Given the description of an element on the screen output the (x, y) to click on. 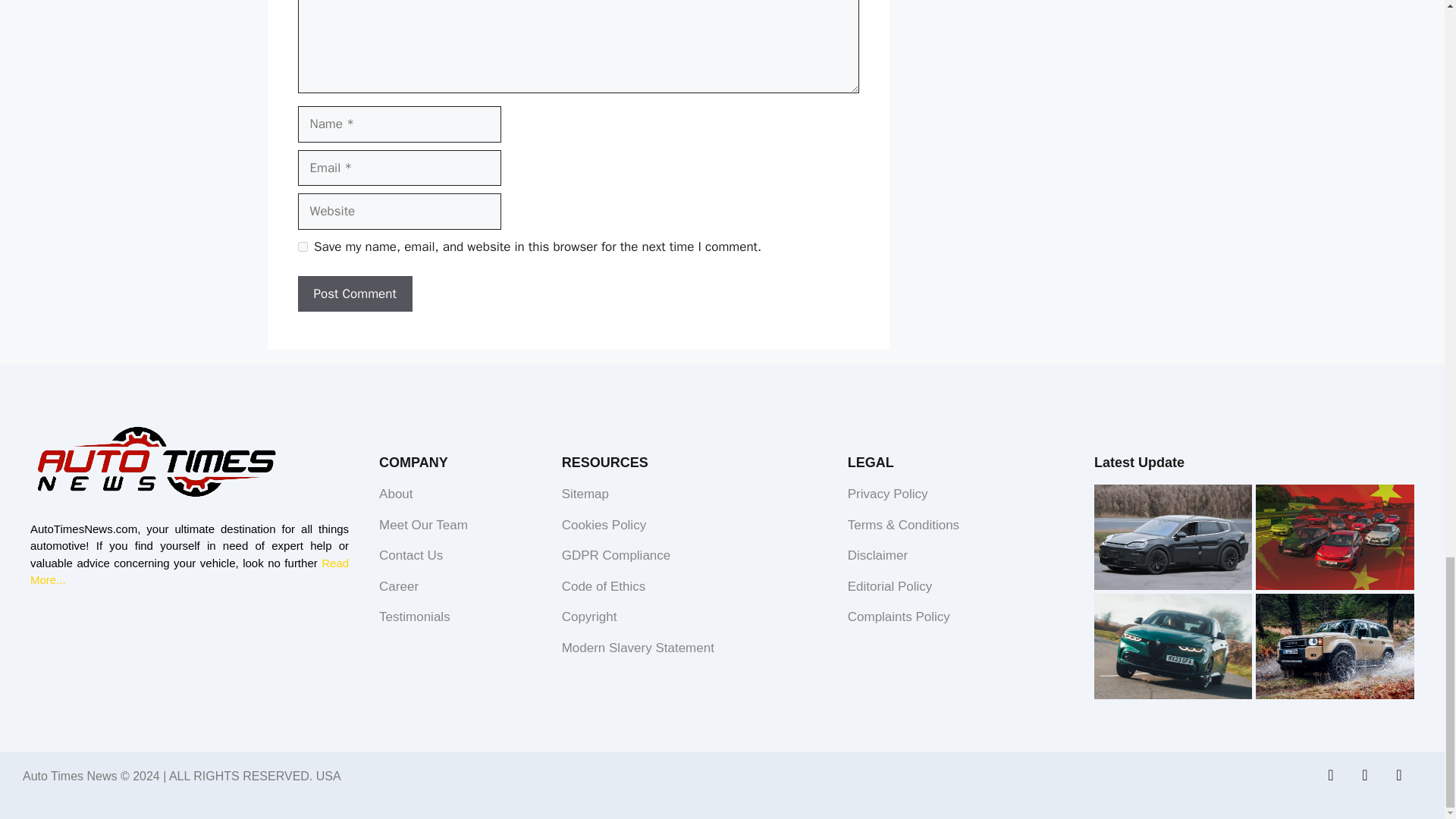
yes (302, 246)
Post Comment (354, 294)
